Given the description of an element on the screen output the (x, y) to click on. 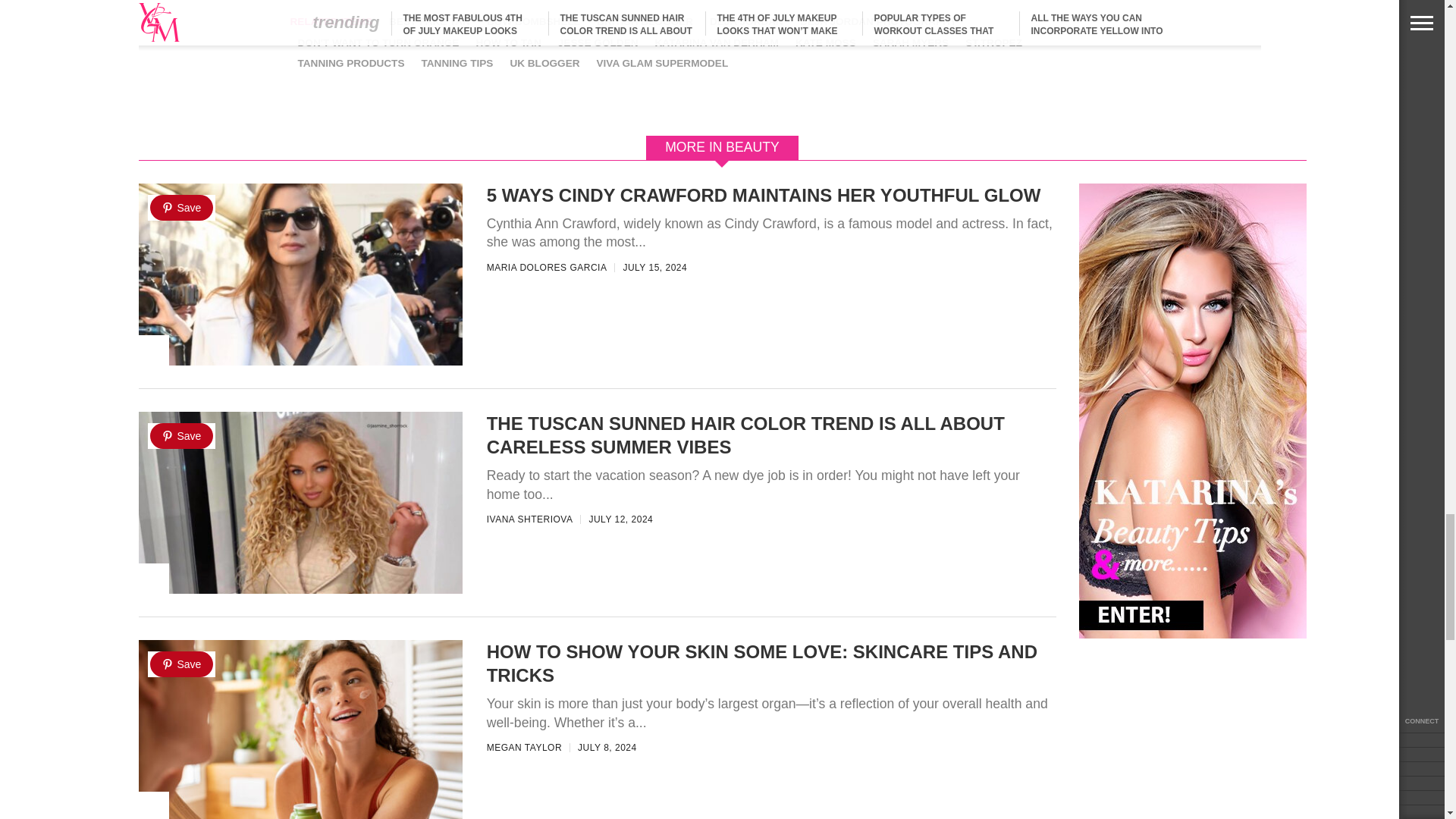
5 Ways Cindy Crawford Maintains Her Youthful Glow (299, 373)
